Given the description of an element on the screen output the (x, y) to click on. 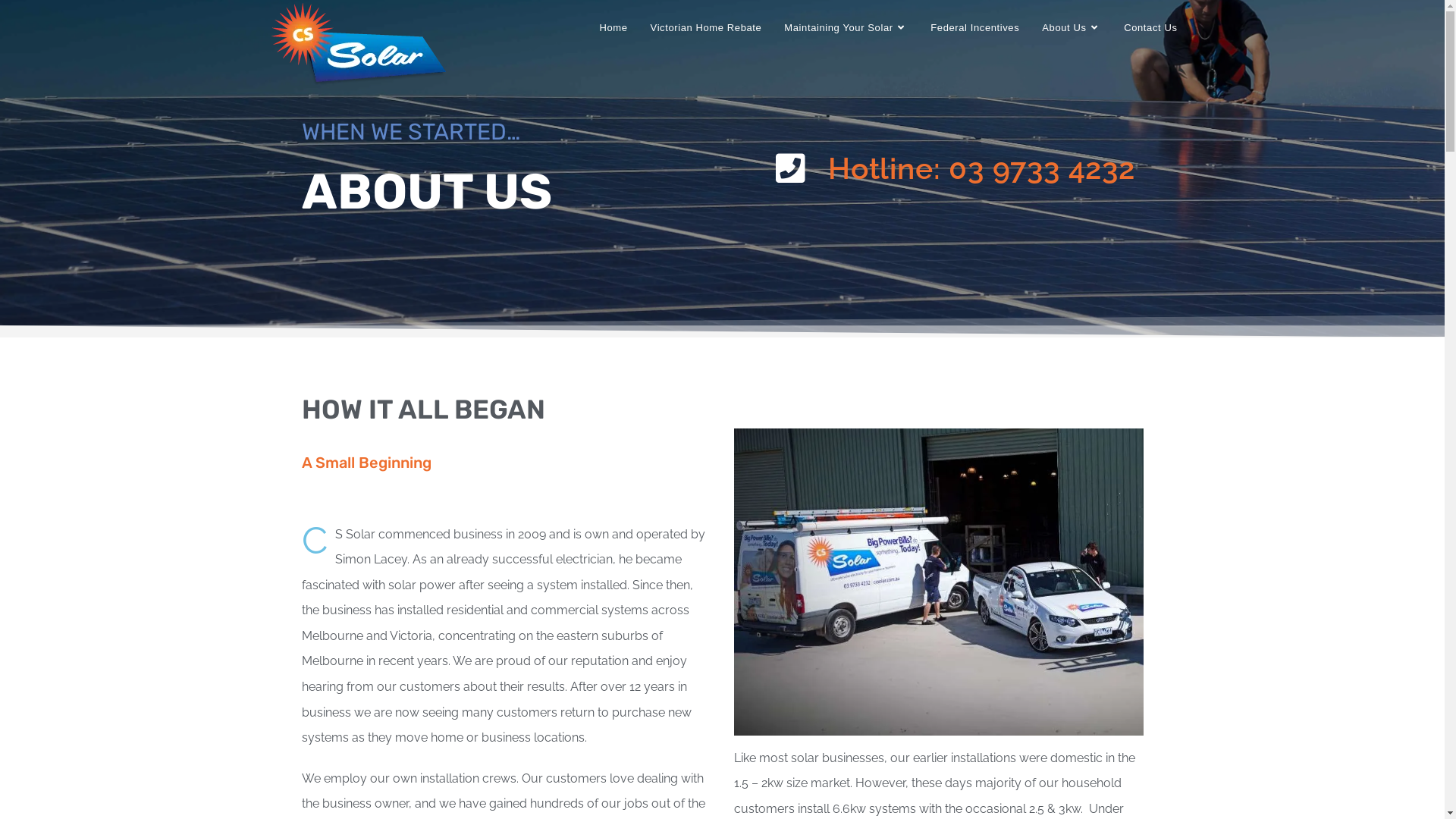
Home Element type: text (613, 28)
Federal Incentives Element type: text (974, 28)
Victorian Home Rebate Element type: text (706, 28)
Contact Us Element type: text (1150, 28)
About Us Element type: text (1071, 28)
Maintaining Your Solar Element type: text (845, 28)
